Given the description of an element on the screen output the (x, y) to click on. 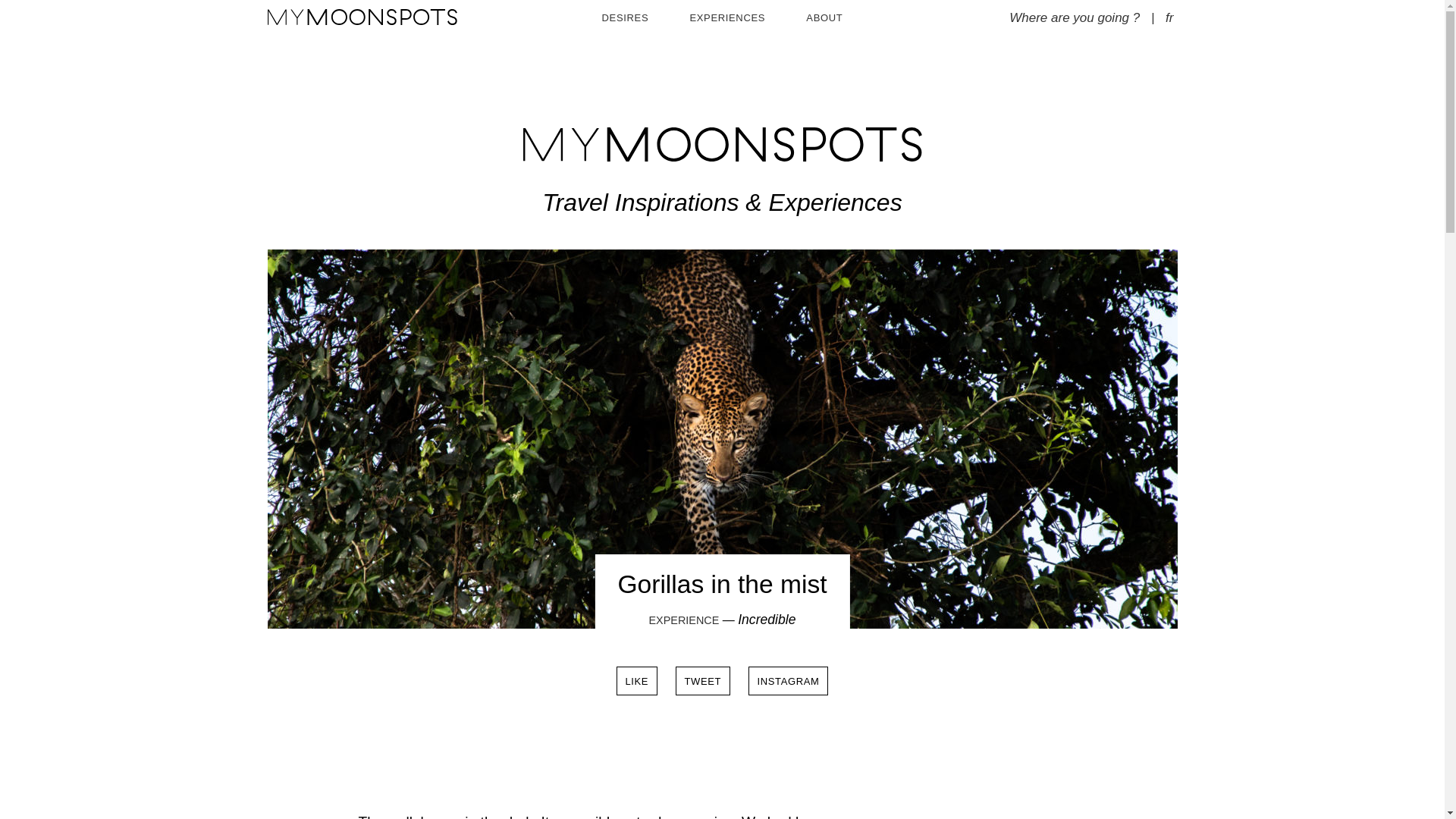
DESIRES (625, 17)
MY MOON SPOTS (721, 143)
INSTAGRAM (788, 680)
TWEET (702, 680)
    Where are you going ? (1067, 17)
LIKE (636, 680)
ABOUT (824, 17)
EXPERIENCE (684, 620)
EXPERIENCES (726, 17)
